Given the description of an element on the screen output the (x, y) to click on. 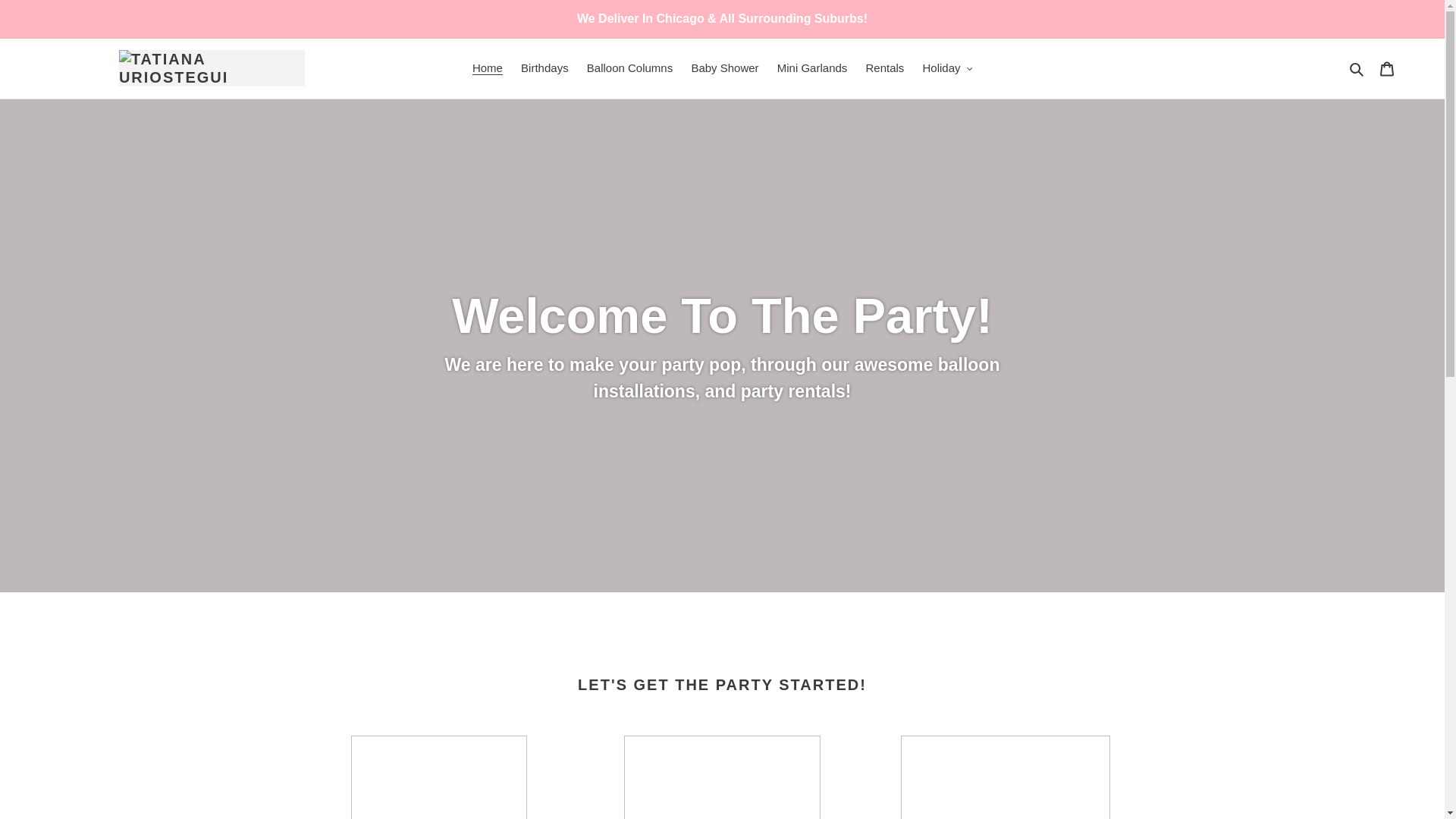
Cart (1387, 68)
Rentals (885, 68)
Balloon Columns (629, 68)
Mini Garlands (813, 68)
Birthdays (544, 68)
Home (487, 68)
Holiday (947, 68)
Baby Shower (723, 68)
Search (1357, 67)
